Given the description of an element on the screen output the (x, y) to click on. 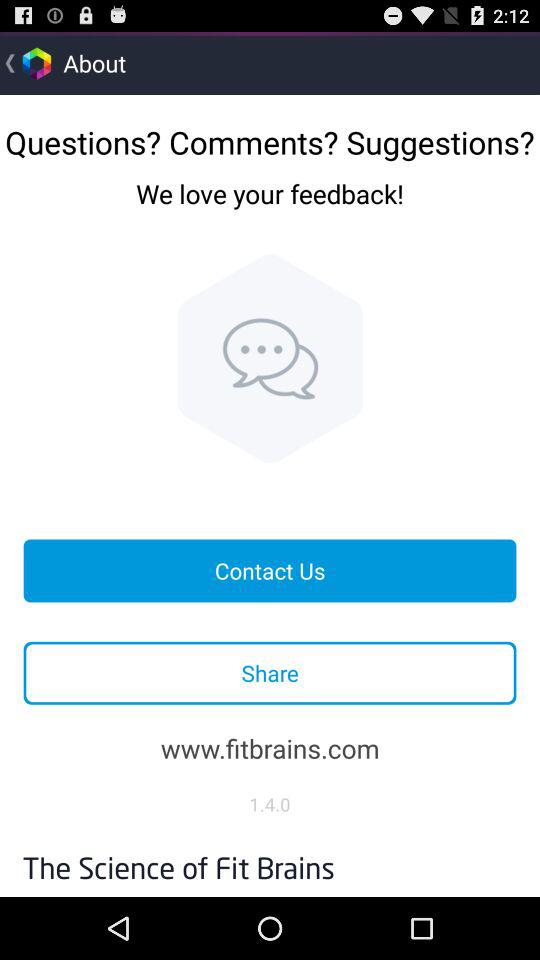
scroll to we love your item (270, 209)
